Given the description of an element on the screen output the (x, y) to click on. 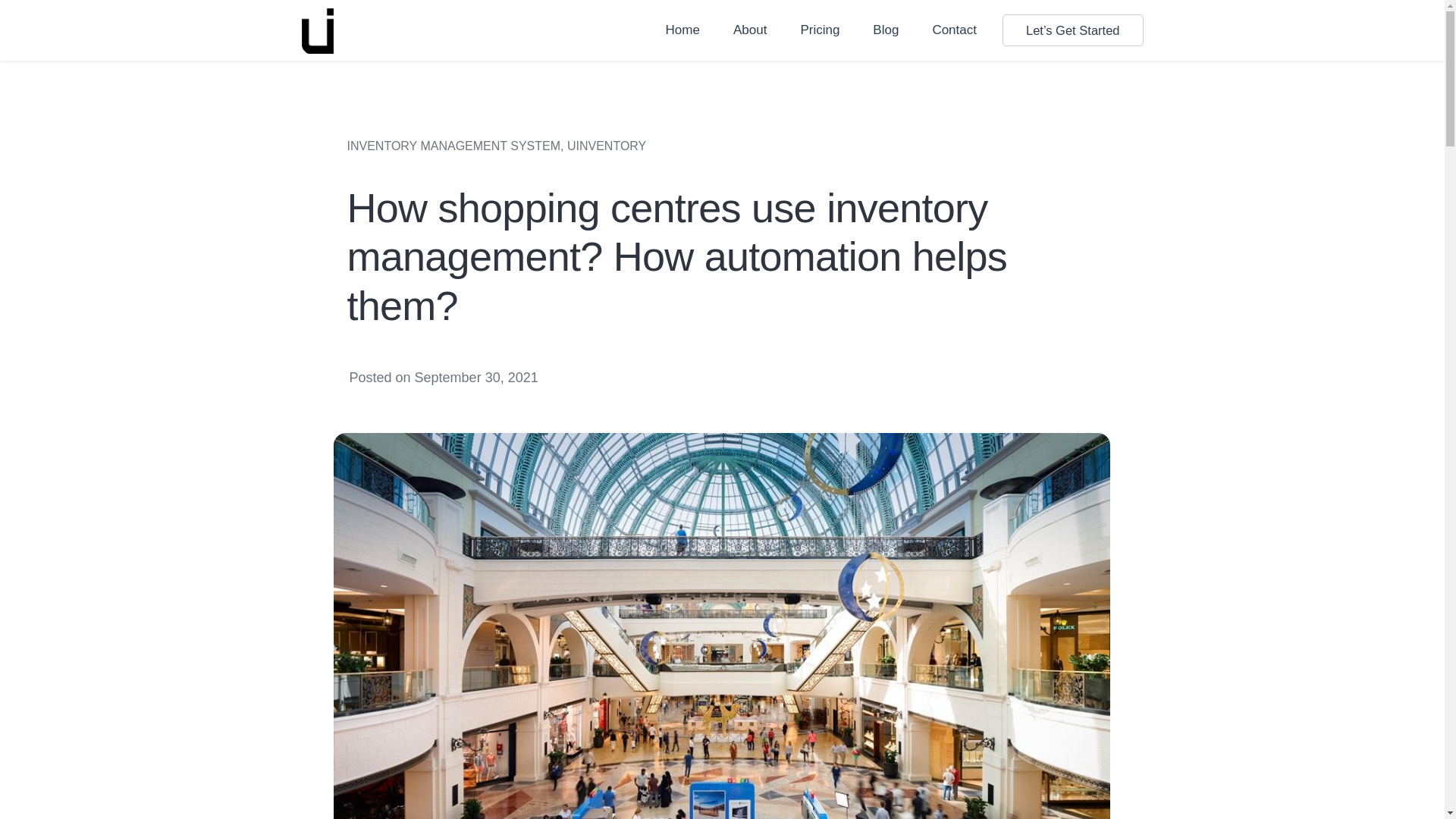
Home (682, 30)
Contact (954, 30)
About (749, 30)
Blog (885, 30)
Pricing (819, 30)
